Given the description of an element on the screen output the (x, y) to click on. 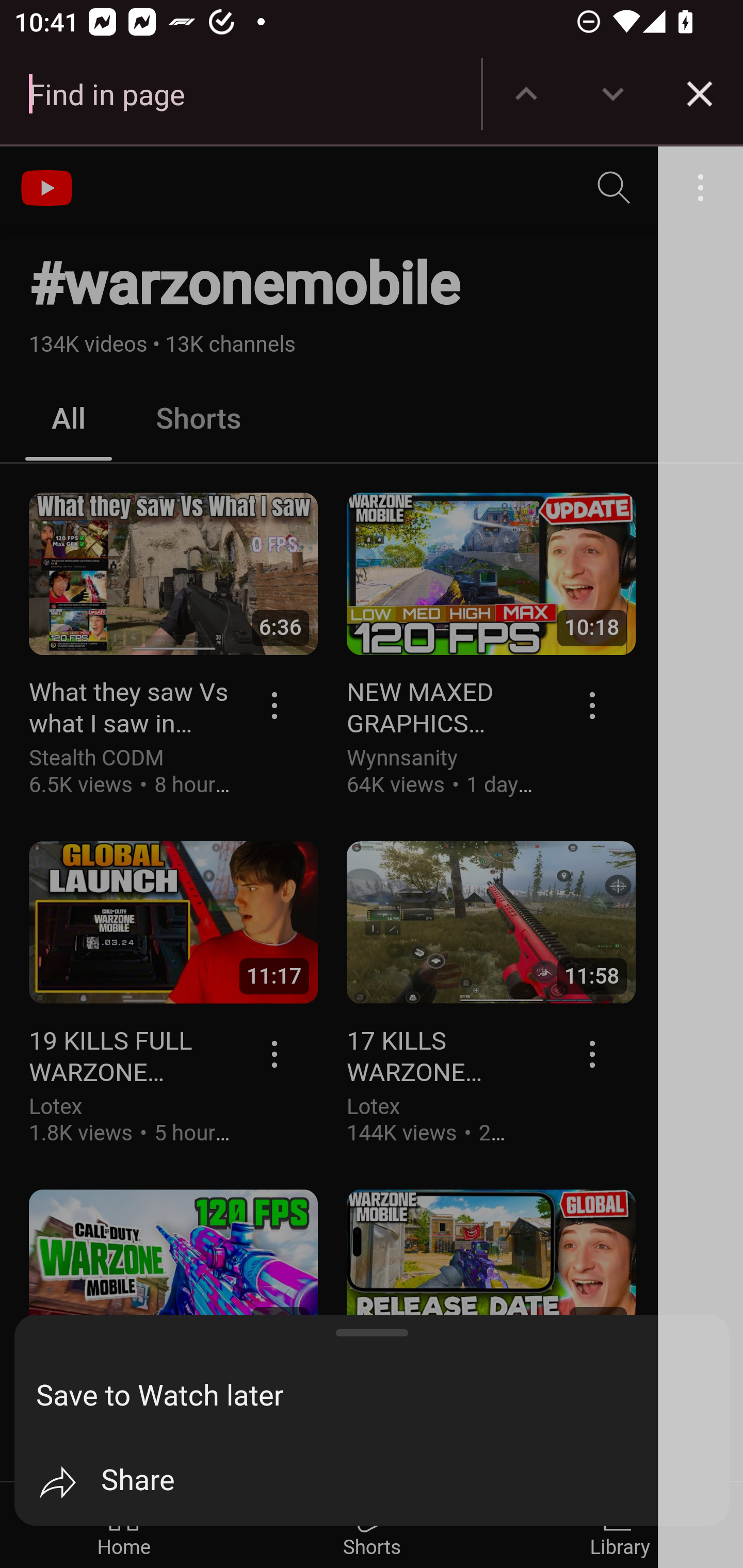
Find in page (239, 93)
Previous (525, 93)
Next (612, 93)
Close (699, 93)
Save to Watch later (383, 1396)
Share (383, 1482)
